Given the description of an element on the screen output the (x, y) to click on. 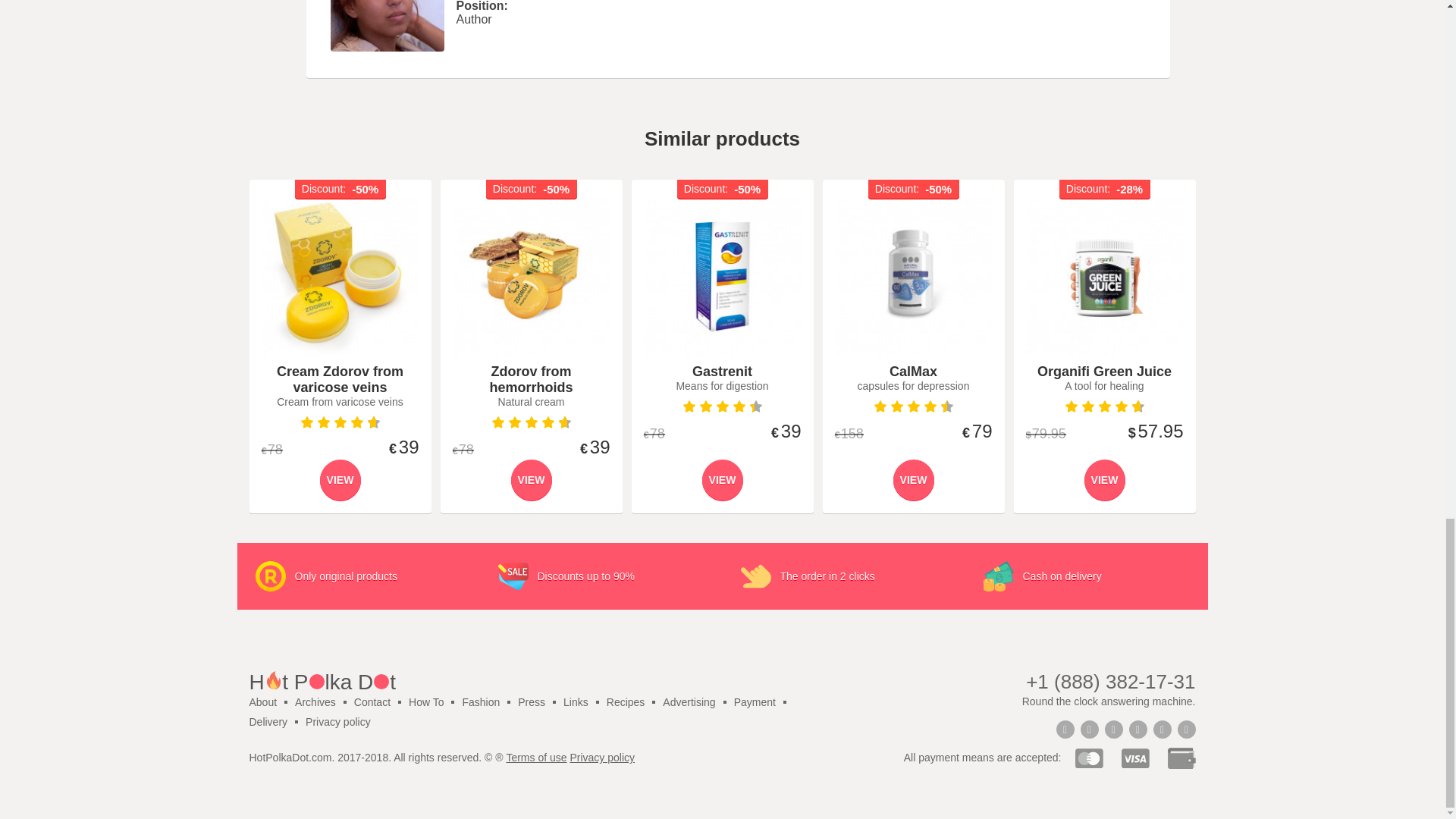
Gastrenit (721, 276)
CalMax (912, 276)
Organifi Green Juice (1103, 276)
Zdorov from hemorrhoids (530, 276)
Cream Zdorov from varicose veins (339, 276)
